Given the description of an element on the screen output the (x, y) to click on. 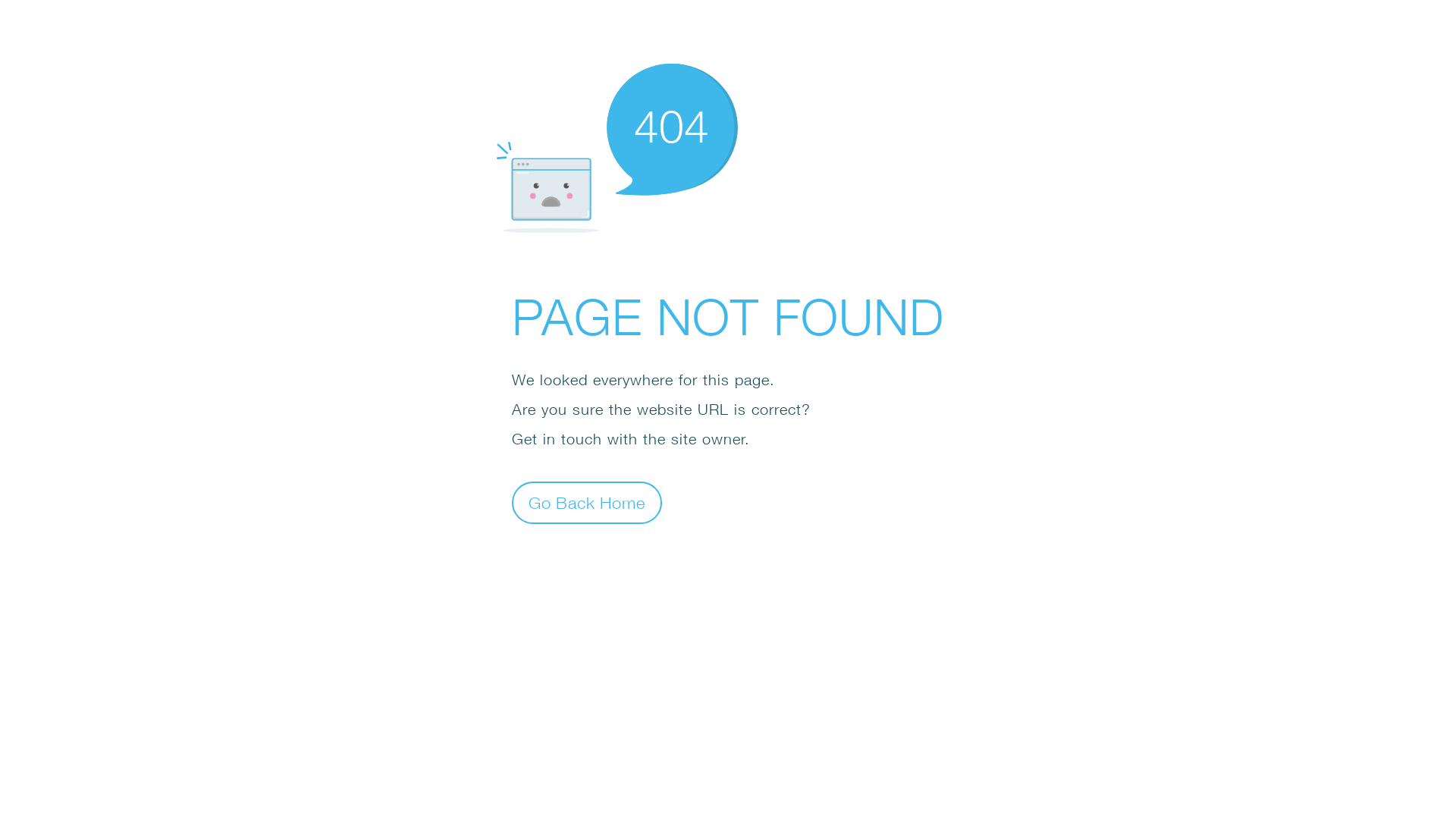
Go Back Home Element type: text (586, 502)
